Given the description of an element on the screen output the (x, y) to click on. 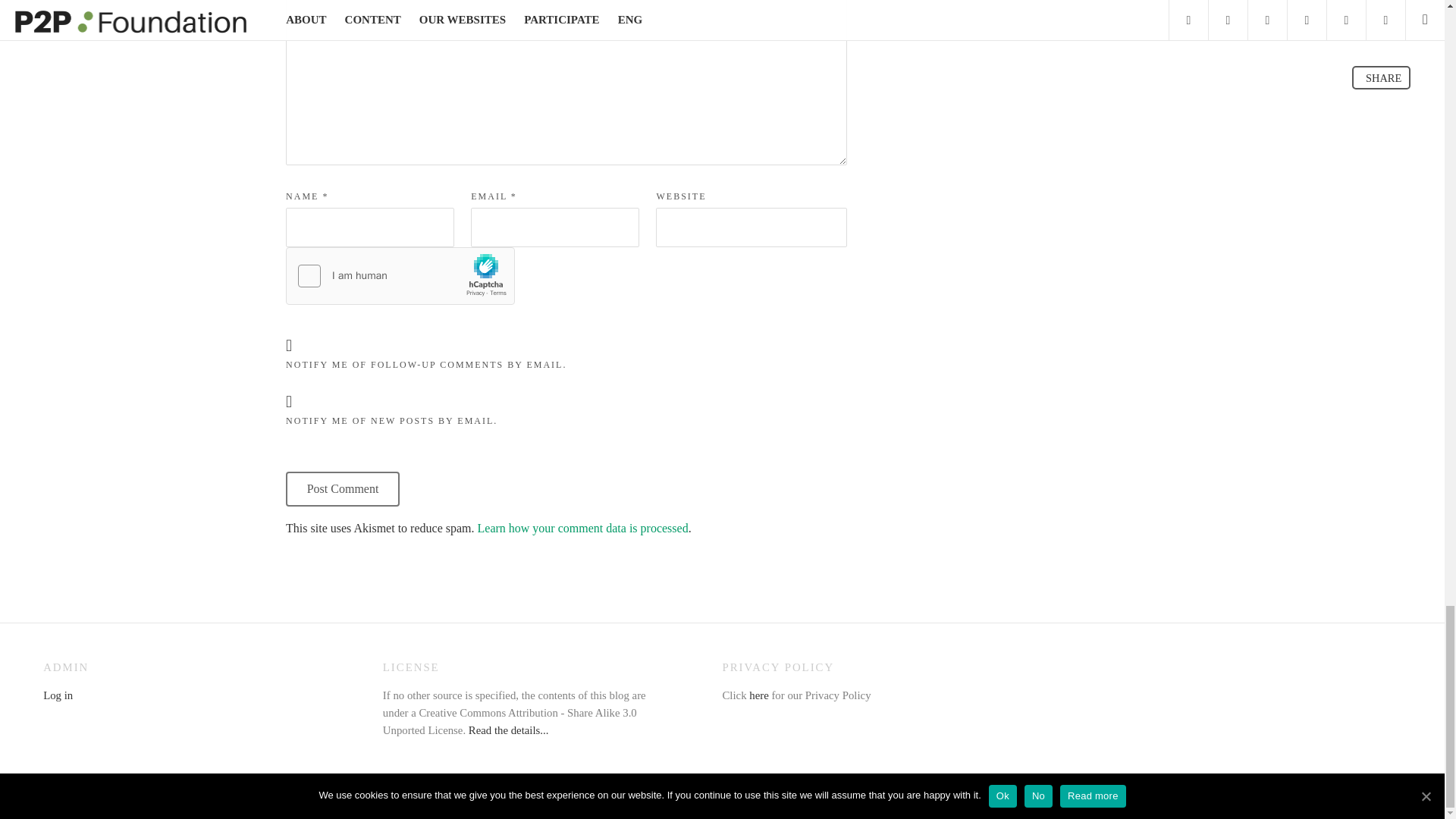
Widget containing checkbox for hCaptcha security challenge (400, 276)
Post Comment (341, 488)
